Given the description of an element on the screen output the (x, y) to click on. 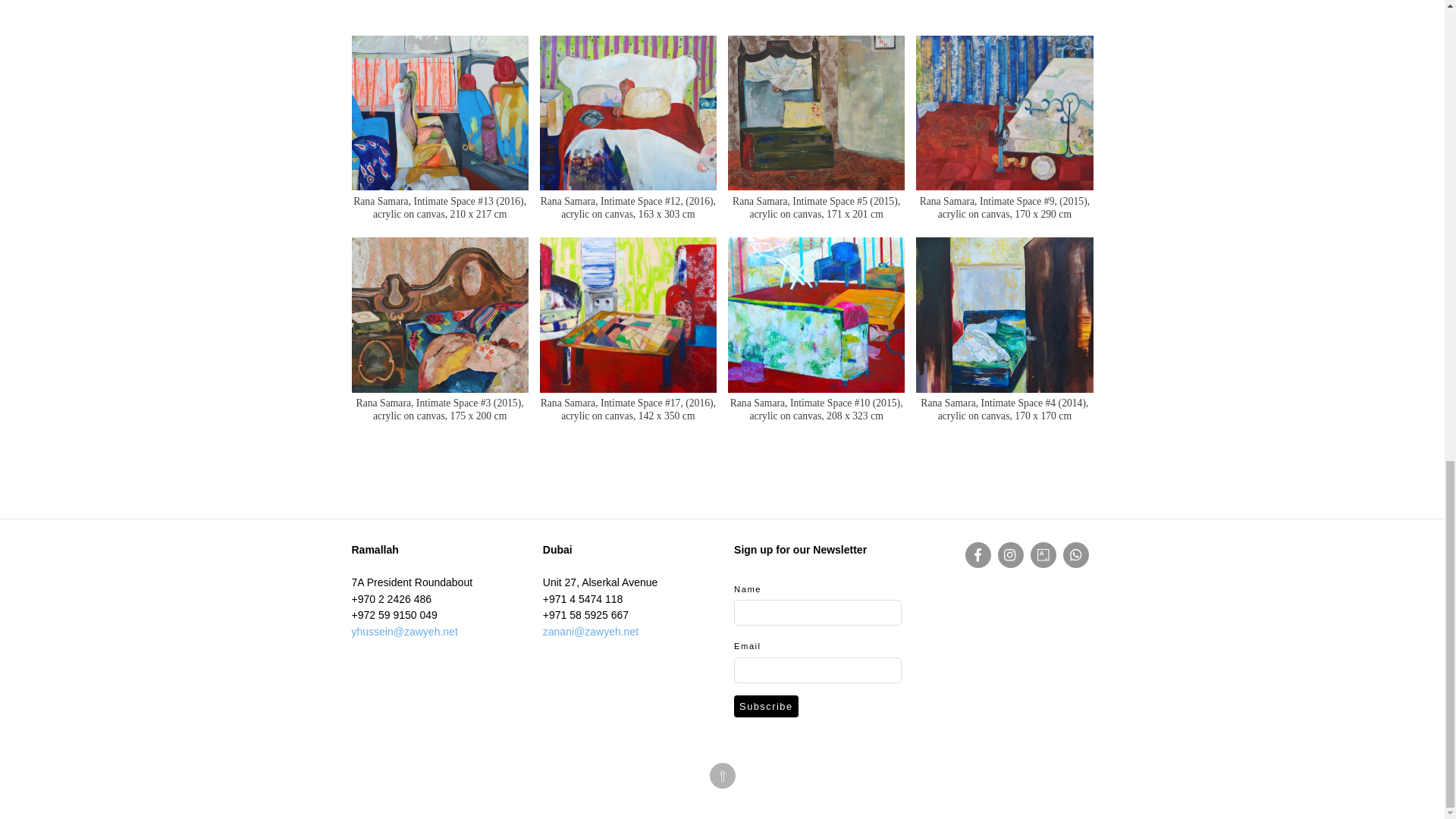
Subscribe (765, 706)
Subscribe (765, 706)
